Given the description of an element on the screen output the (x, y) to click on. 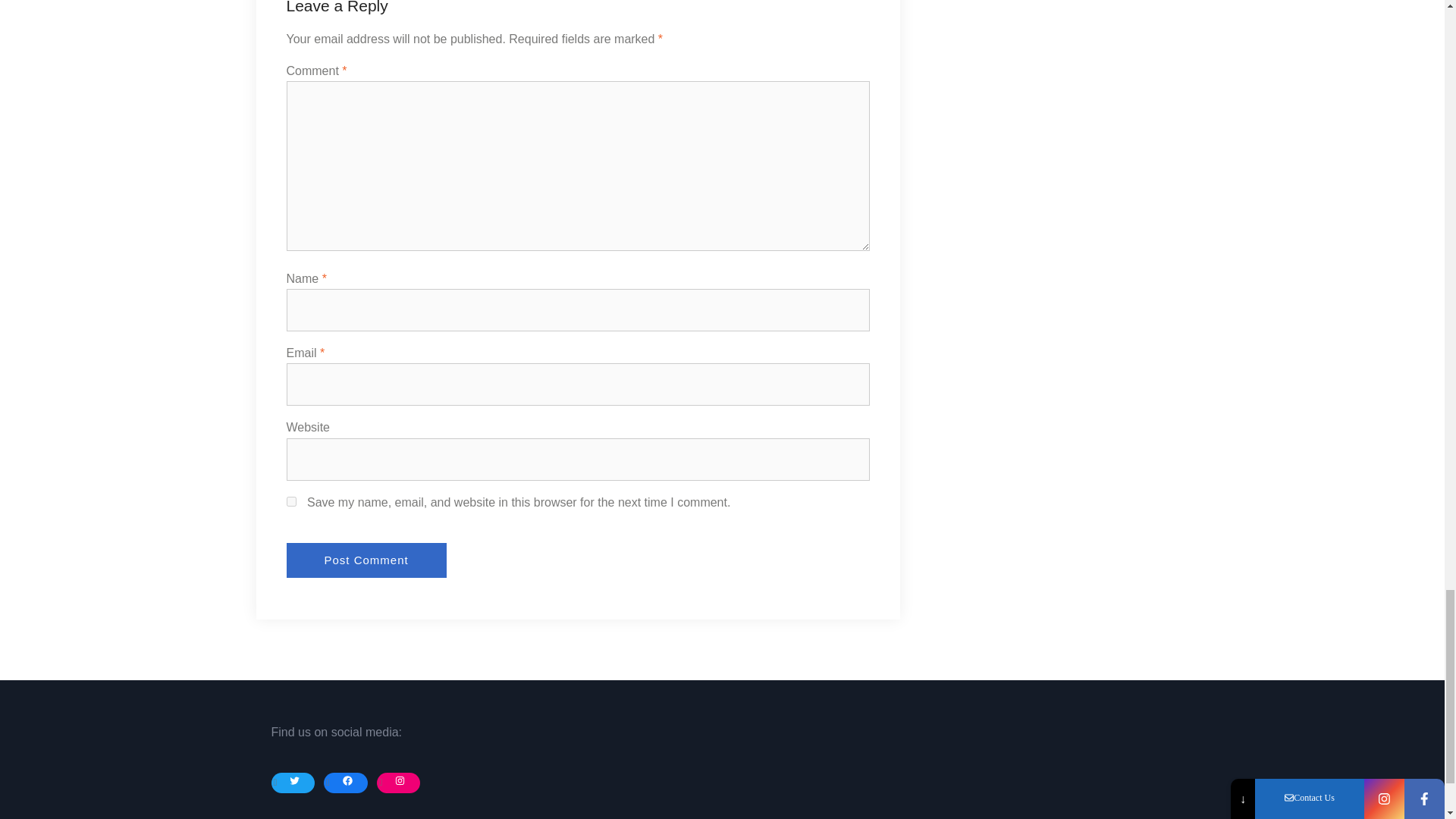
Post Comment (366, 560)
Twitter (295, 780)
Facebook (347, 780)
Instagram (400, 780)
Post Comment (366, 560)
yes (291, 501)
